Given the description of an element on the screen output the (x, y) to click on. 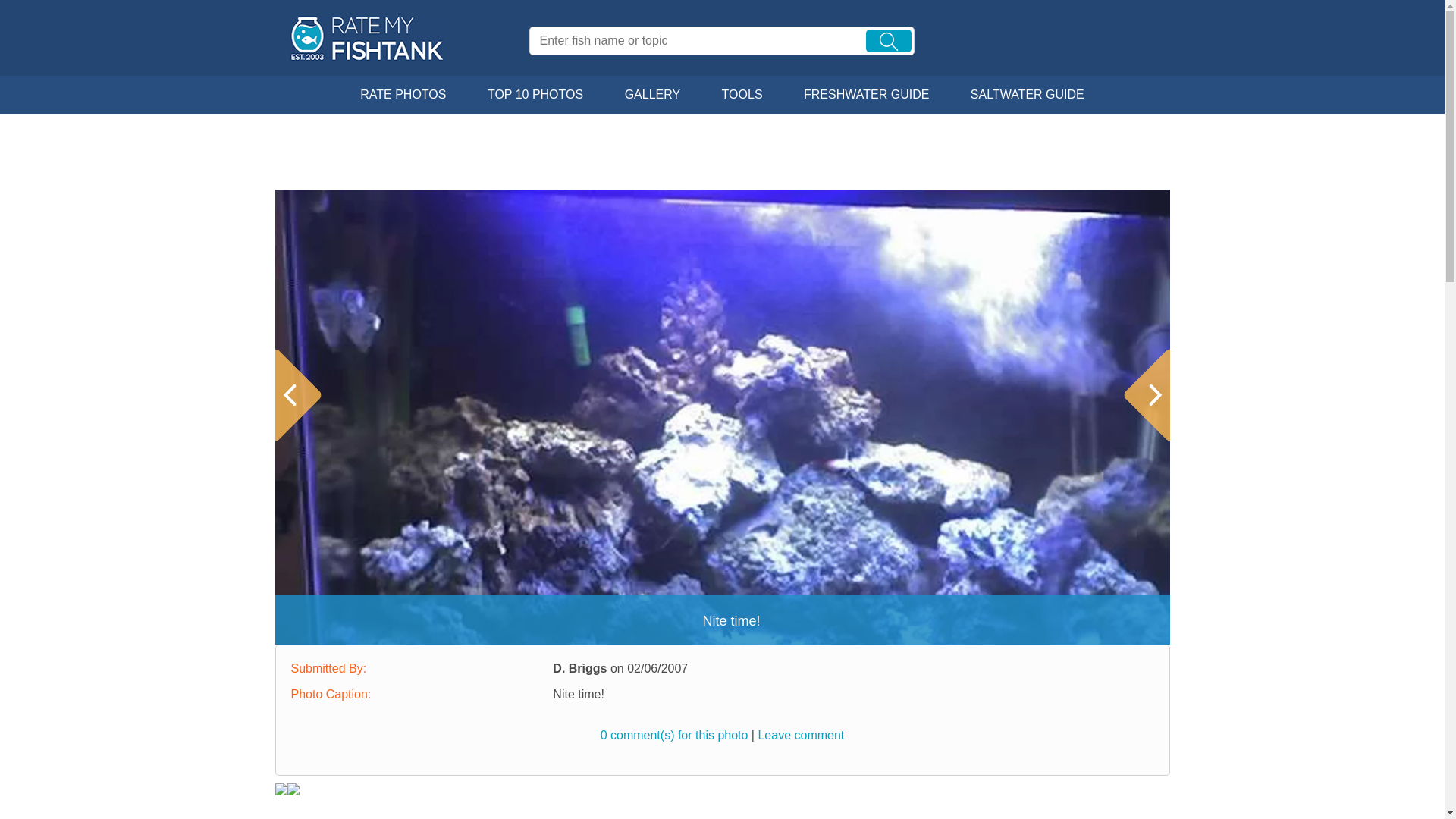
GALLERY (652, 94)
FRESHWATER GUIDE (865, 94)
TOOLS (742, 94)
SALTWATER GUIDE (1027, 94)
Leave comment (800, 735)
RATE PHOTOS (402, 94)
Rate My Fishtank - Established 2003 (368, 38)
TOP 10 PHOTOS (535, 94)
